Given the description of an element on the screen output the (x, y) to click on. 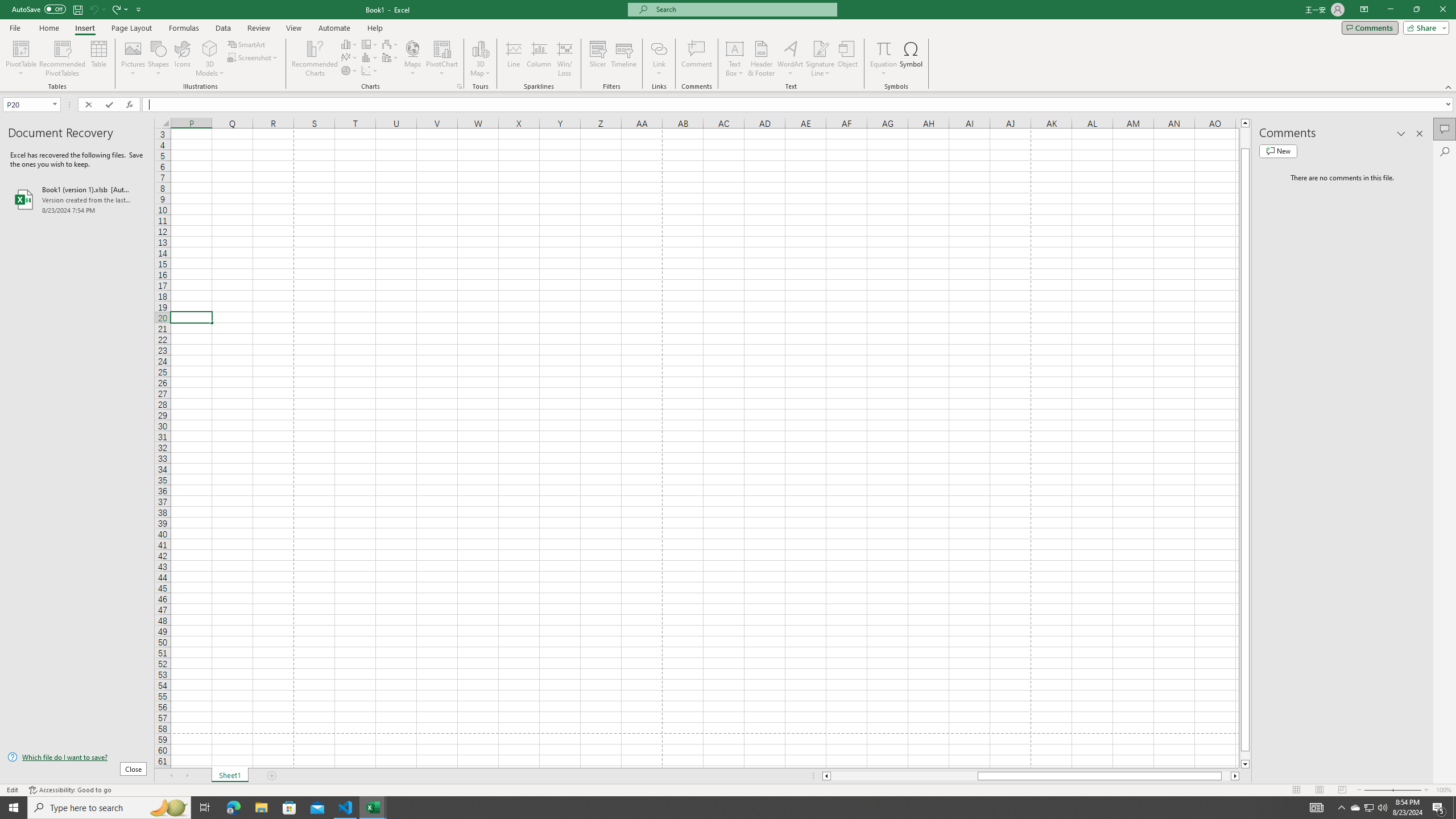
Draw Horizontal Text Box (734, 48)
Recommended Charts (459, 85)
Win/Loss (564, 58)
PivotTable (20, 48)
New comment (1278, 151)
